Given the description of an element on the screen output the (x, y) to click on. 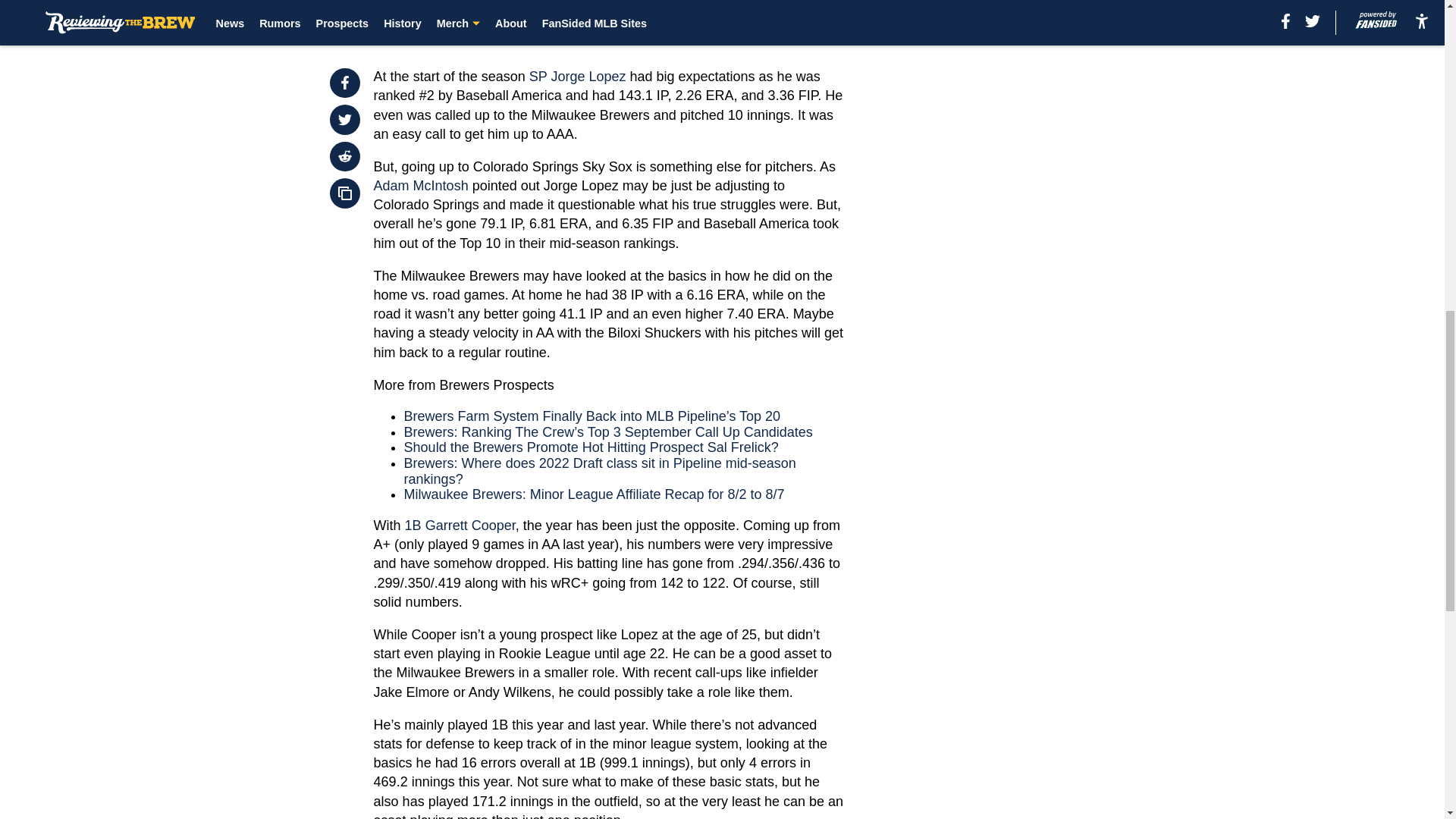
Should the Brewers Promote Hot Hitting Prospect Sal Frelick? (591, 447)
Adam McIntosh (421, 185)
1B Garrett Cooper (459, 525)
SP Jorge Lopez (579, 76)
